Given the description of an element on the screen output the (x, y) to click on. 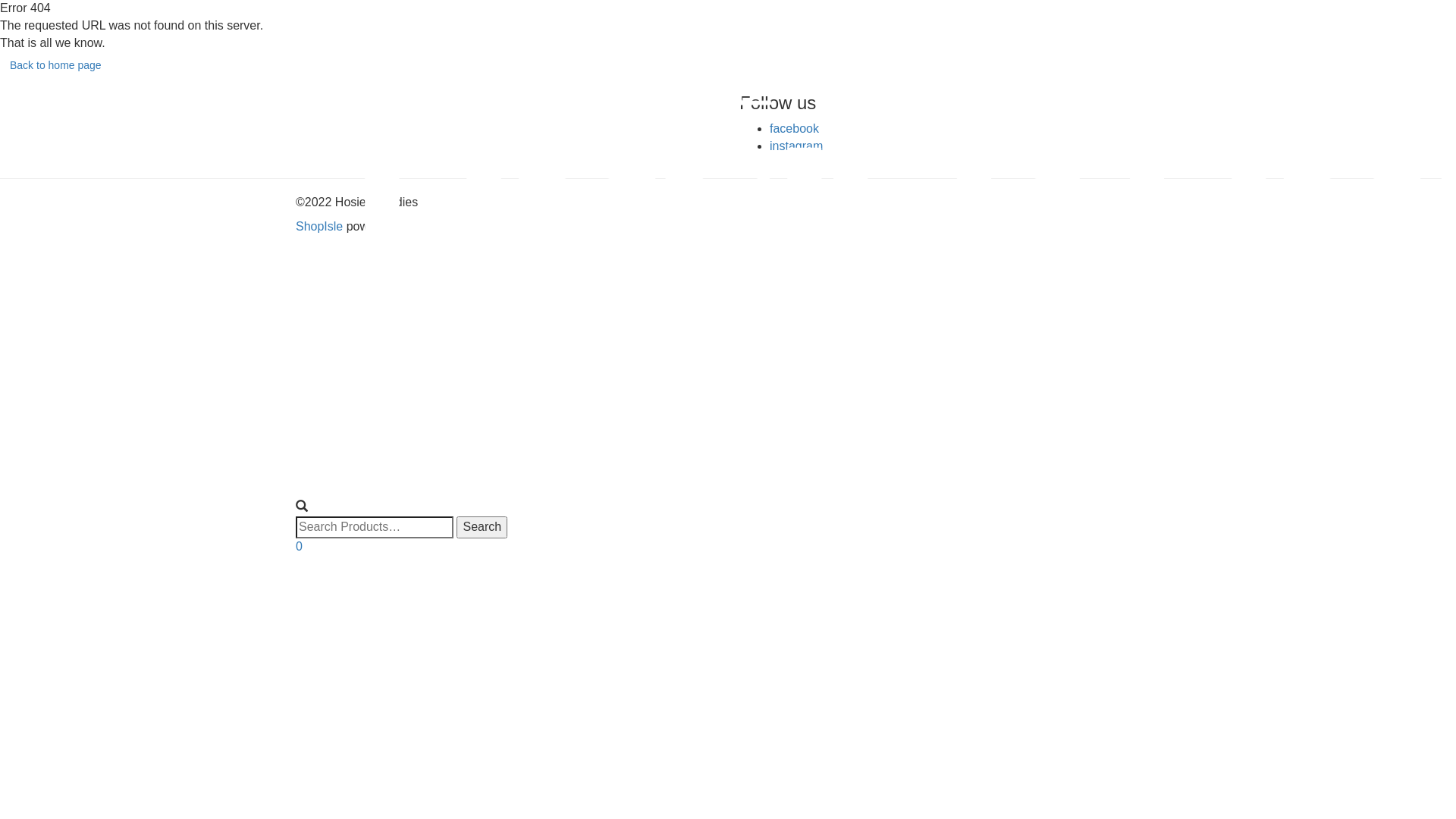
instagram Element type: text (795, 145)
Search for: Element type: hover (374, 527)
WordPress Element type: text (439, 225)
Search Element type: text (481, 527)
Back to home page Element type: text (55, 65)
facebook Element type: text (794, 128)
0 Element type: text (298, 545)
ShopIsle Element type: text (320, 225)
